Given the description of an element on the screen output the (x, y) to click on. 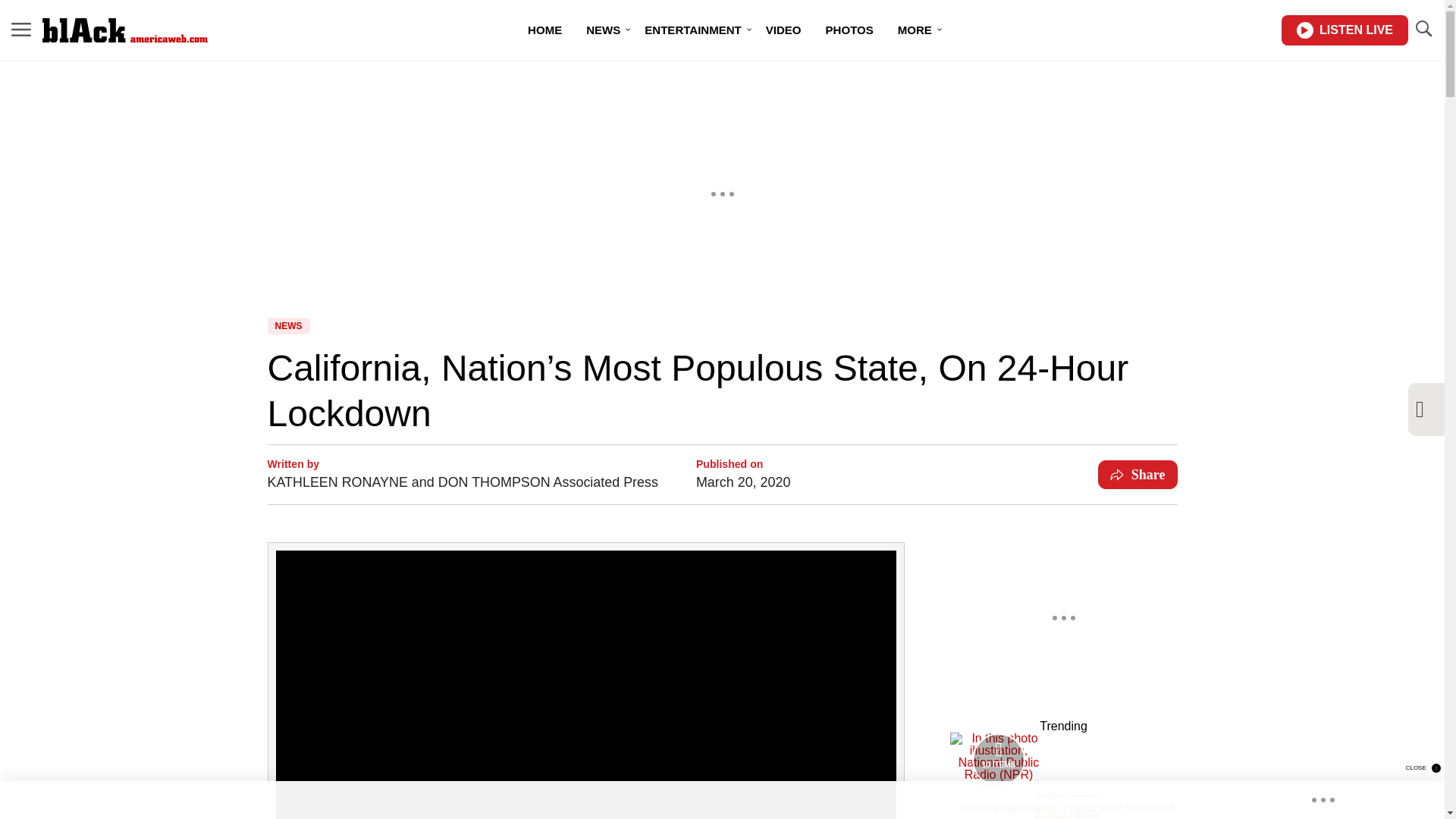
MORE (914, 30)
TOGGLE SEARCH (1422, 30)
Media Playlist (998, 759)
PHOTOS (849, 30)
MENU (20, 30)
VIDEO (783, 30)
NEWS (287, 325)
HOME (544, 30)
MENU (20, 29)
NEWS (602, 30)
